Given the description of an element on the screen output the (x, y) to click on. 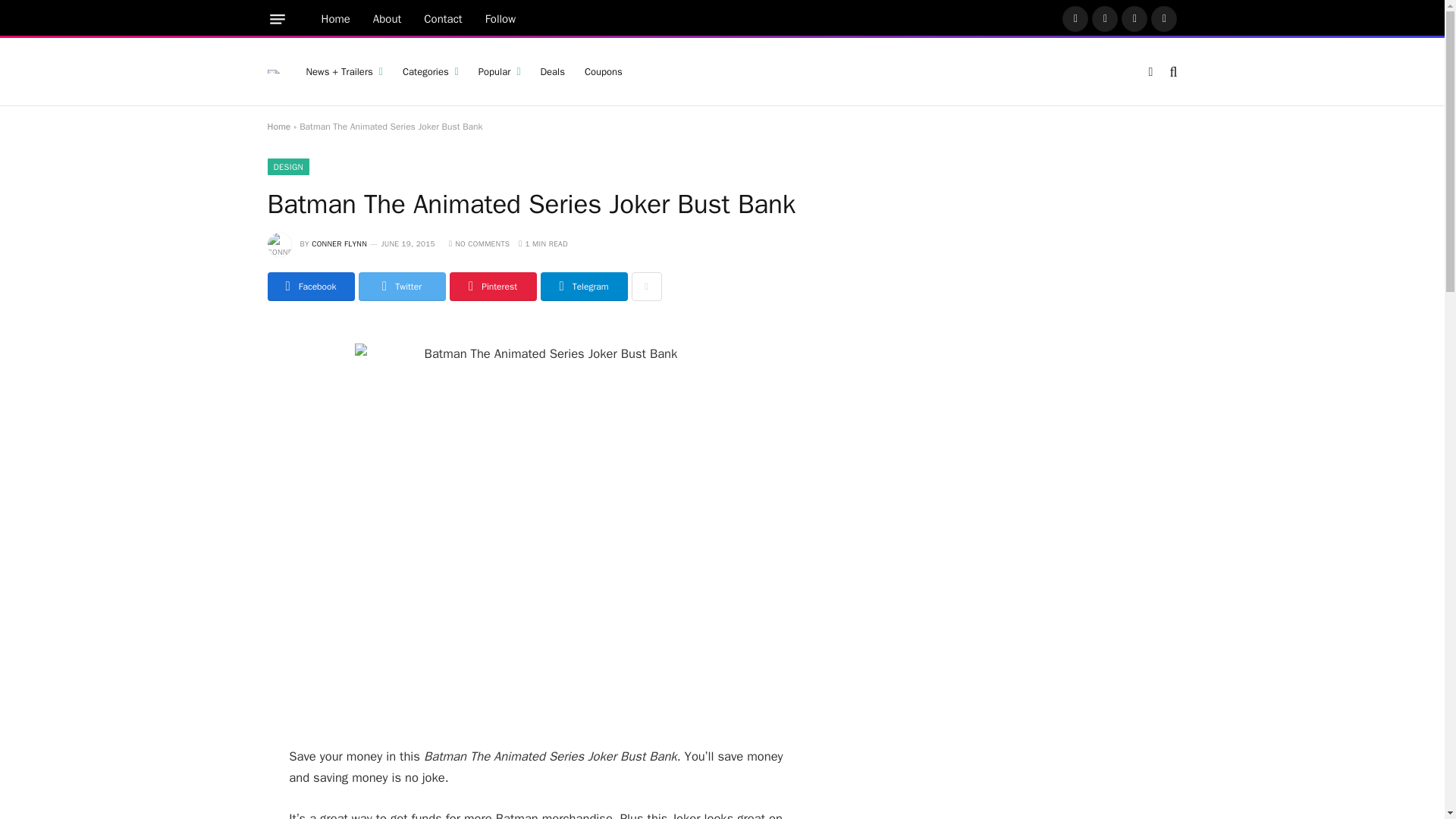
Home (334, 19)
Share on Facebook (309, 286)
About (386, 19)
Posts by Conner Flynn (338, 243)
Switch to Dark Design - easier on eyes. (1149, 70)
Share on Pinterest (491, 286)
Share on Telegram (583, 286)
RSS (1163, 18)
Pinterest (1134, 18)
Facebook (1074, 18)
